Given the description of an element on the screen output the (x, y) to click on. 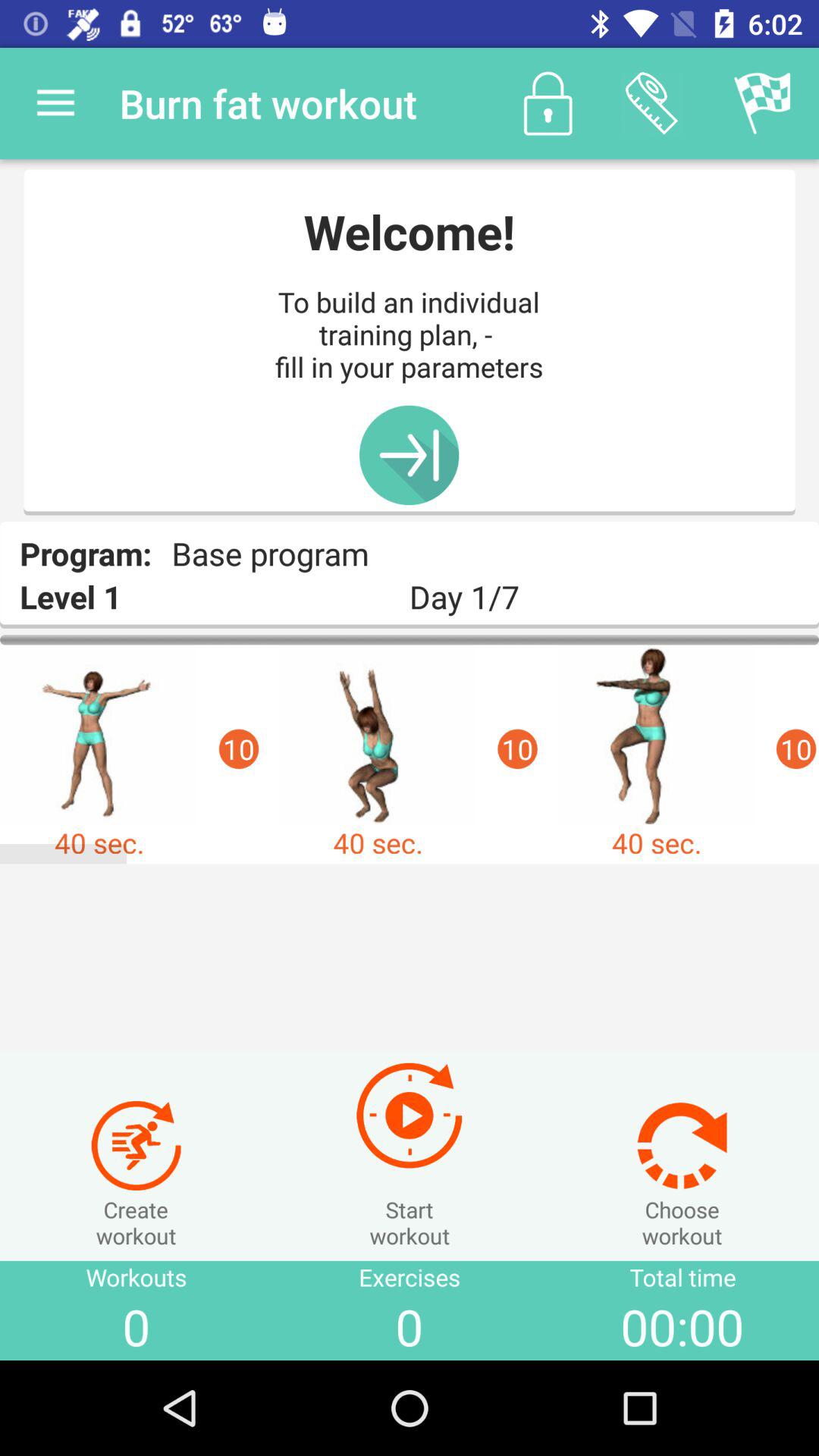
turn off the app to the right of burn fat workout icon (547, 103)
